Given the description of an element on the screen output the (x, y) to click on. 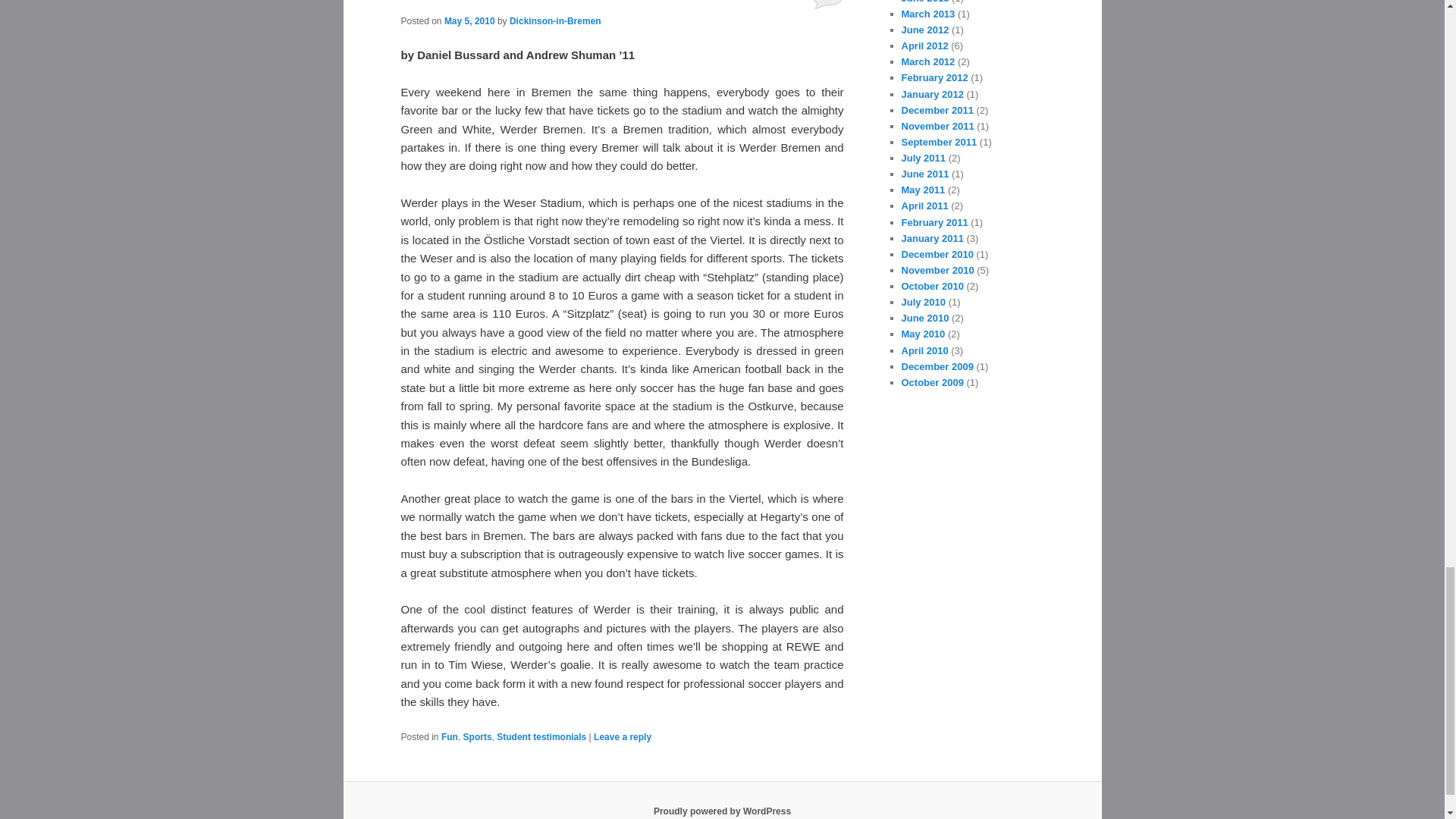
View all posts by Dickinson-in-Bremen (555, 20)
3:41 pm (469, 20)
Semantic Personal Publishing Platform (721, 810)
Dickinson-in-Bremen (555, 20)
May 5, 2010 (469, 20)
Fun (449, 737)
Werder Bremen (473, 2)
